Given the description of an element on the screen output the (x, y) to click on. 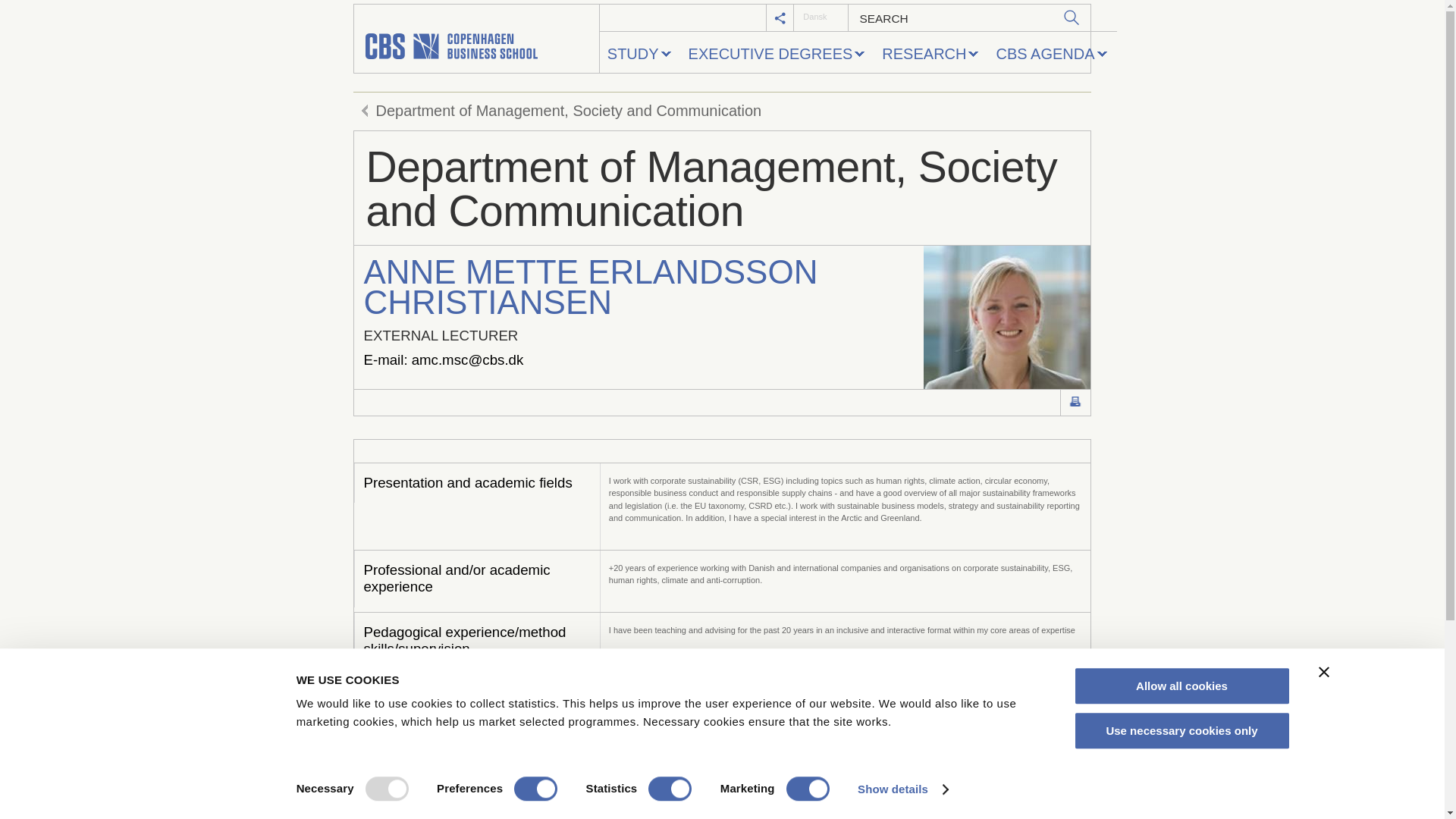
Show details (902, 789)
Use necessary cookies only (1182, 730)
Front page (475, 38)
Search (1072, 16)
